Given the description of an element on the screen output the (x, y) to click on. 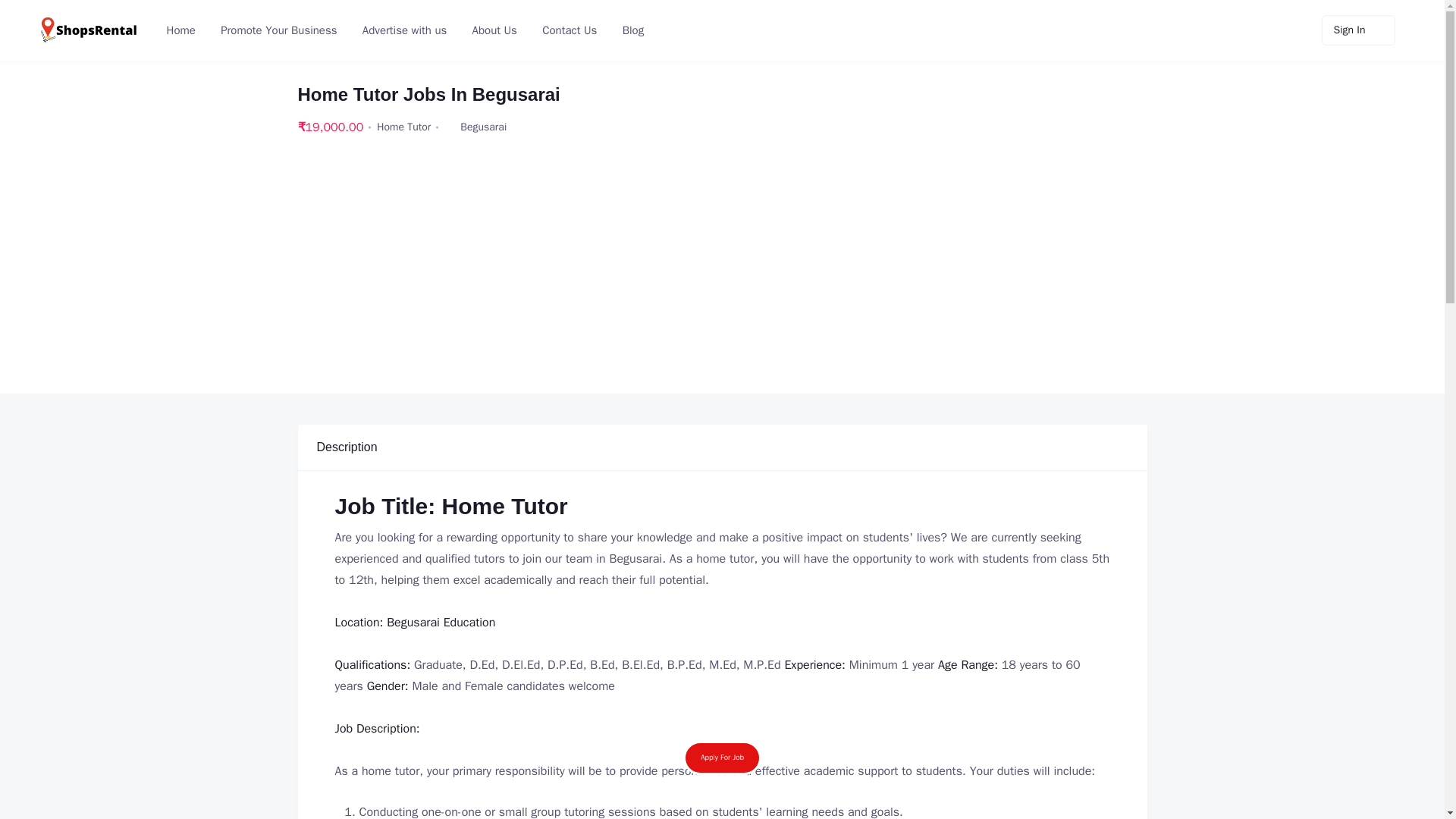
Begusarai (483, 126)
About Us (493, 30)
Advertise with us (403, 30)
Home (179, 30)
Promote Your Business (277, 30)
Contact Us (568, 30)
Sign In (1358, 30)
Home Tutor (403, 127)
